Given the description of an element on the screen output the (x, y) to click on. 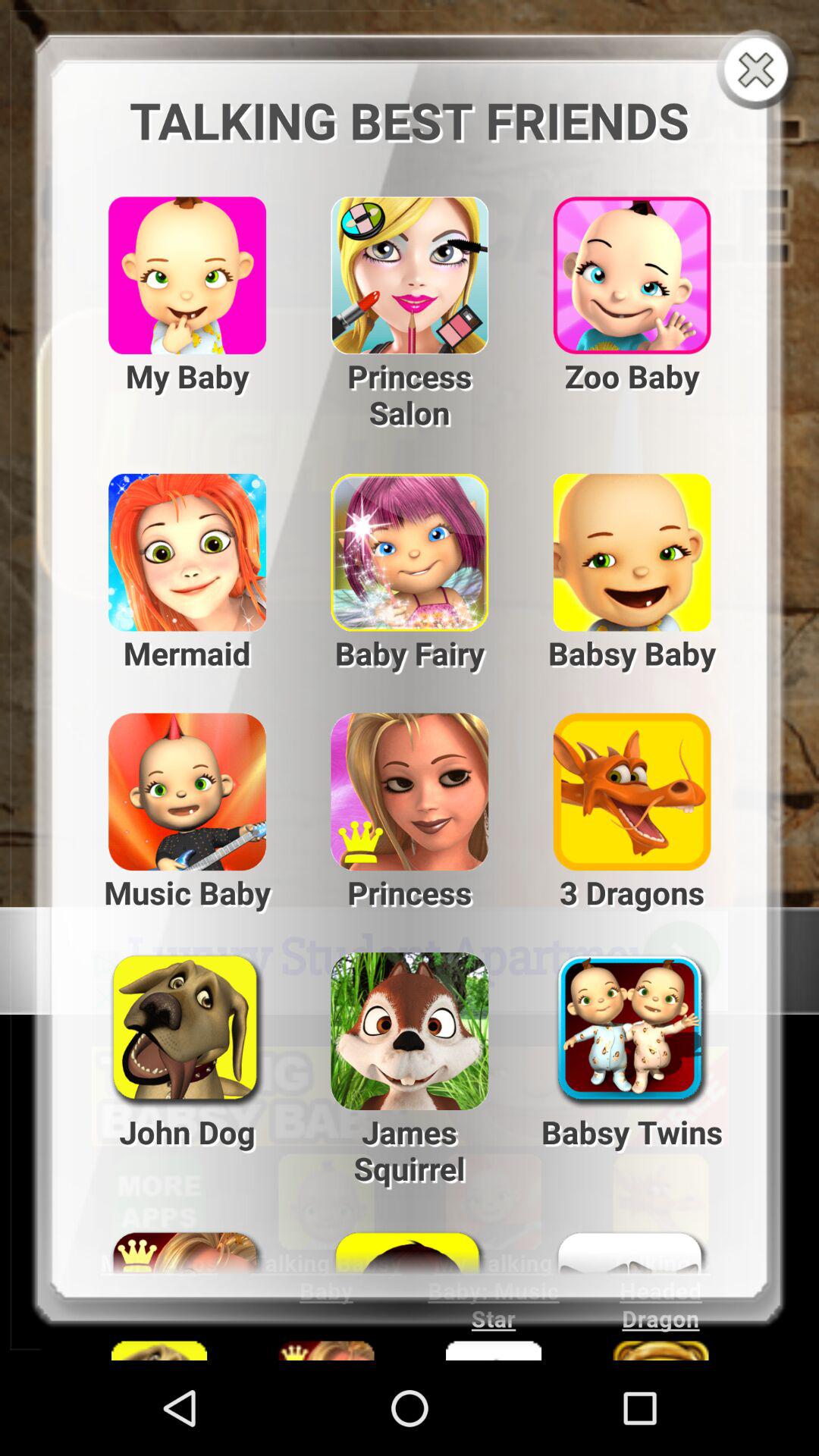
exit to menu (759, 71)
